Given the description of an element on the screen output the (x, y) to click on. 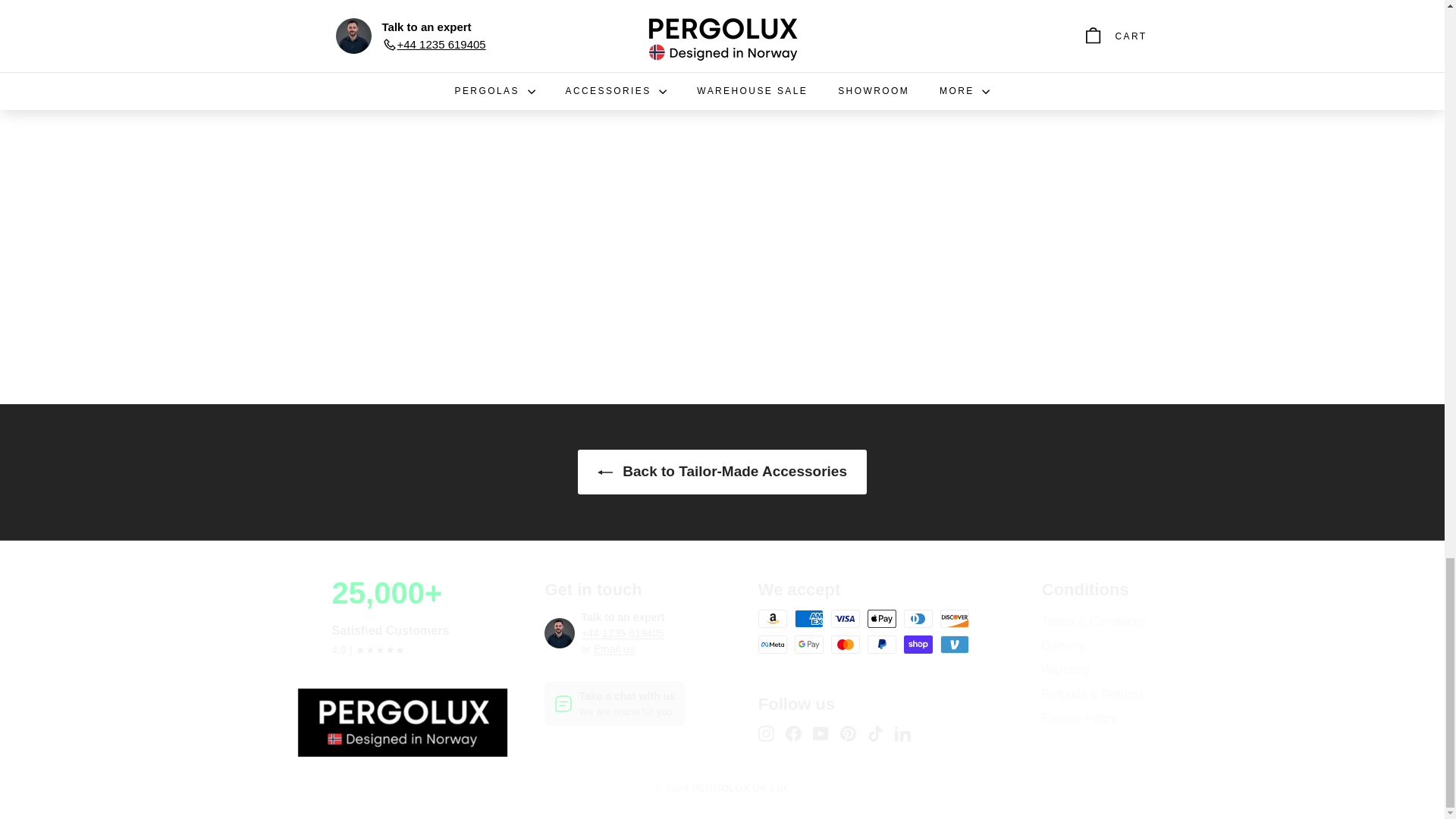
icon-left-arrow (604, 472)
PERGOLUX UK Ltd. on YouTube (820, 733)
PERGOLUX UK Ltd. on Pinterest (848, 733)
PERGOLUX UK Ltd. on LinkedIn (903, 733)
PERGOLUX UK Ltd. on Facebook (794, 733)
PERGOLUX UK Ltd. on TikTok (875, 733)
PERGOLUX UK Ltd. on Instagram (766, 733)
